Given the description of an element on the screen output the (x, y) to click on. 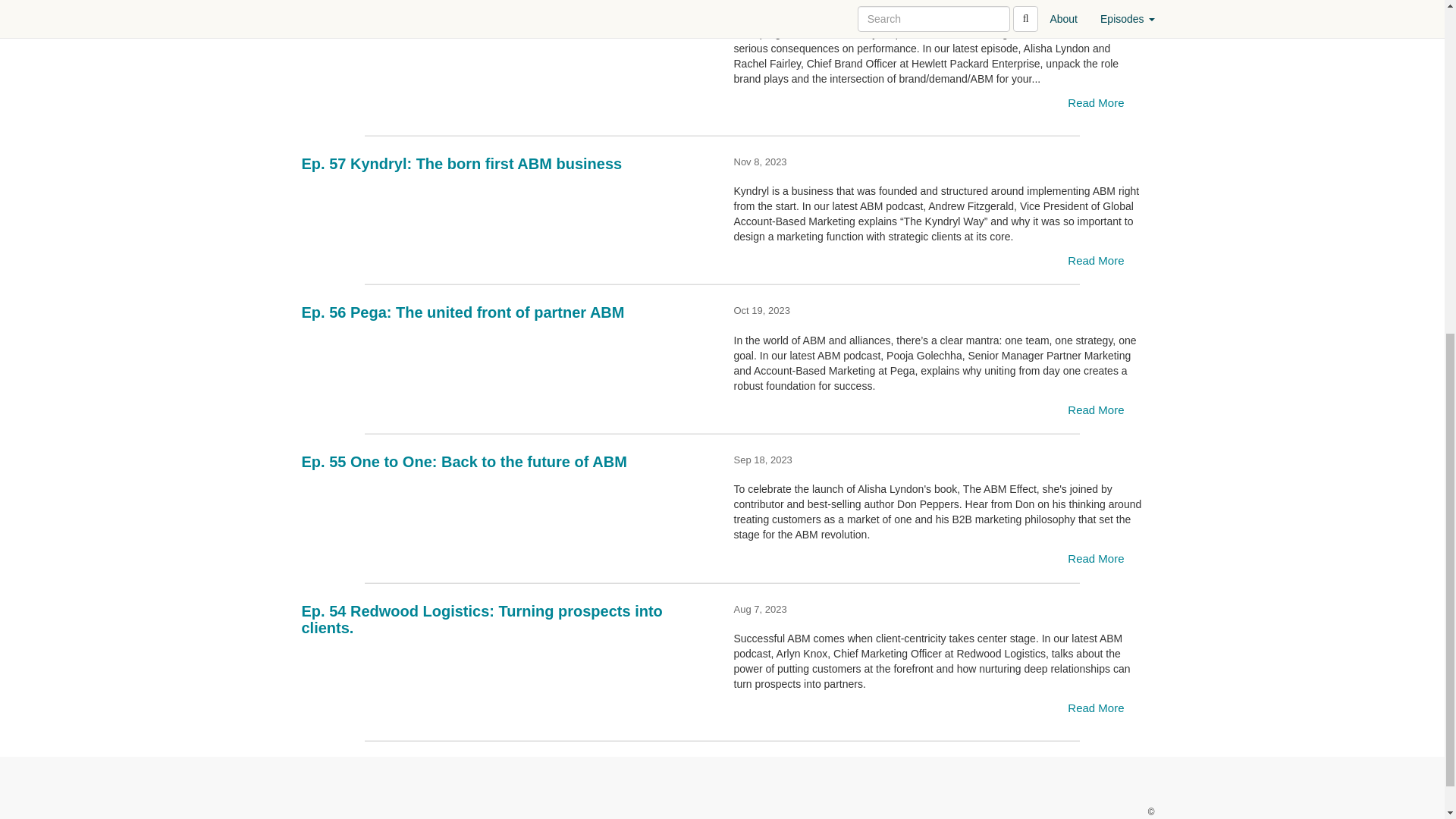
Ep. 57 Kyndryl: The born first ABM business (506, 210)
Ep. 54 Redwood Logistics: Turning prospects into clients. (506, 673)
Ep. 55 One to One: Back to the future of ABM (506, 508)
Ep. 56  Pega: The united front of partner ABM (506, 358)
